Given the description of an element on the screen output the (x, y) to click on. 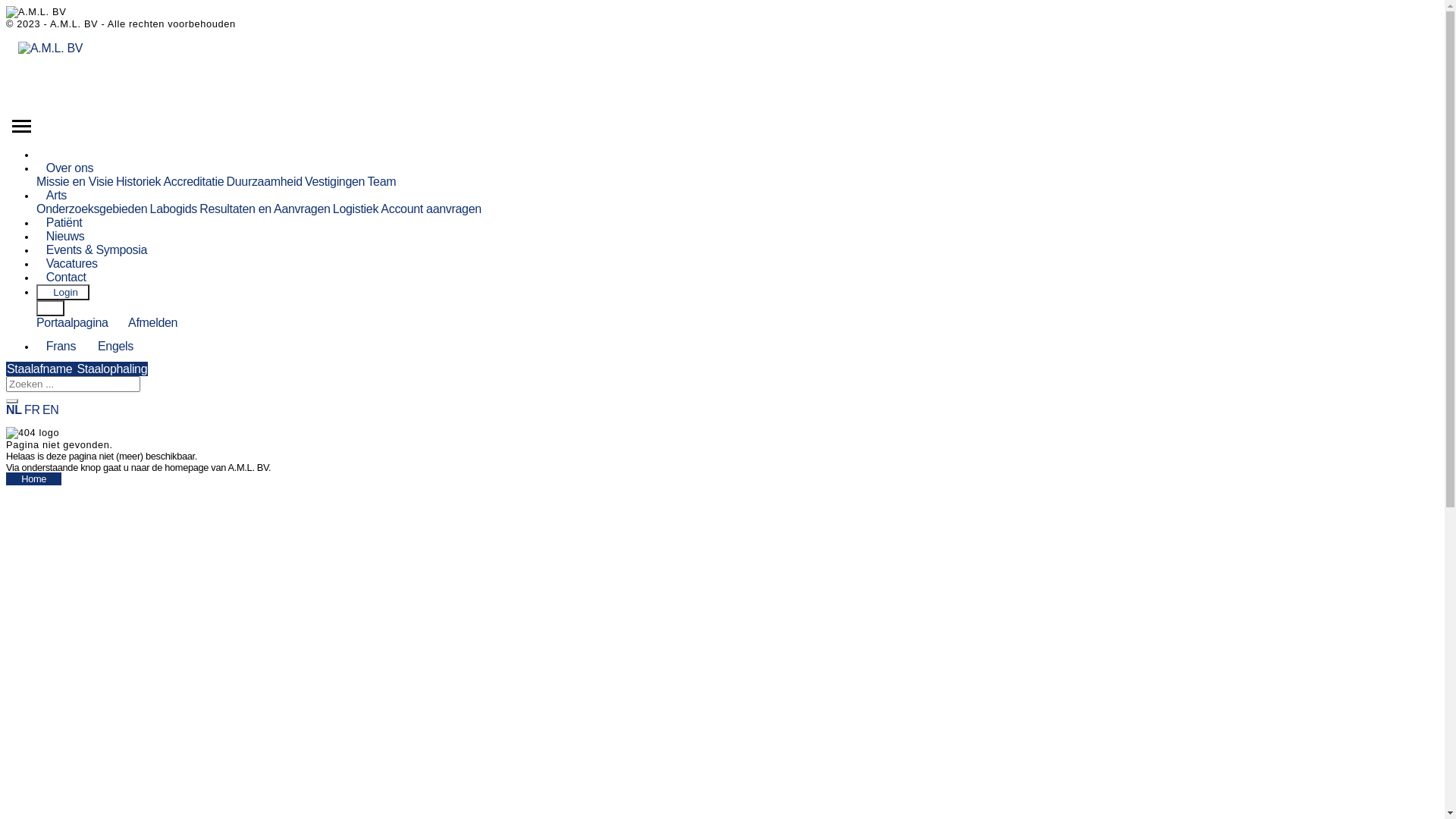
Labogids Element type: text (173, 208)
Team Element type: text (381, 181)
Account aanvragen Element type: text (430, 208)
Over ons Element type: text (69, 167)
Staalafname Element type: text (40, 368)
   Element type: text (50, 308)
Portaalpagina Element type: text (72, 322)
Skip to main content Element type: text (5, 5)
Contact Element type: text (66, 276)
Accreditatie Element type: text (193, 181)
Home Element type: text (46, 153)
Resultaten en Aanvragen Element type: text (264, 208)
Historiek Element type: text (138, 181)
Onderzoeksgebieden Element type: text (91, 208)
Logistiek Element type: text (355, 208)
Afmelden Element type: text (143, 322)
FR Element type: text (32, 409)
Frans Element type: text (60, 345)
EN Element type: text (50, 409)
Staalophaling Element type: text (111, 368)
Duurzaamheid Element type: text (263, 181)
Vestigingen Element type: text (334, 181)
NL Element type: text (13, 409)
Arts Element type: text (56, 194)
Home Element type: text (33, 478)
Missie en Visie Element type: text (74, 181)
  Login Element type: text (62, 292)
Nieuws Element type: text (65, 235)
Vacatures Element type: text (71, 263)
Engels Element type: text (115, 345)
Events & Symposia Element type: text (96, 249)
